Given the description of an element on the screen output the (x, y) to click on. 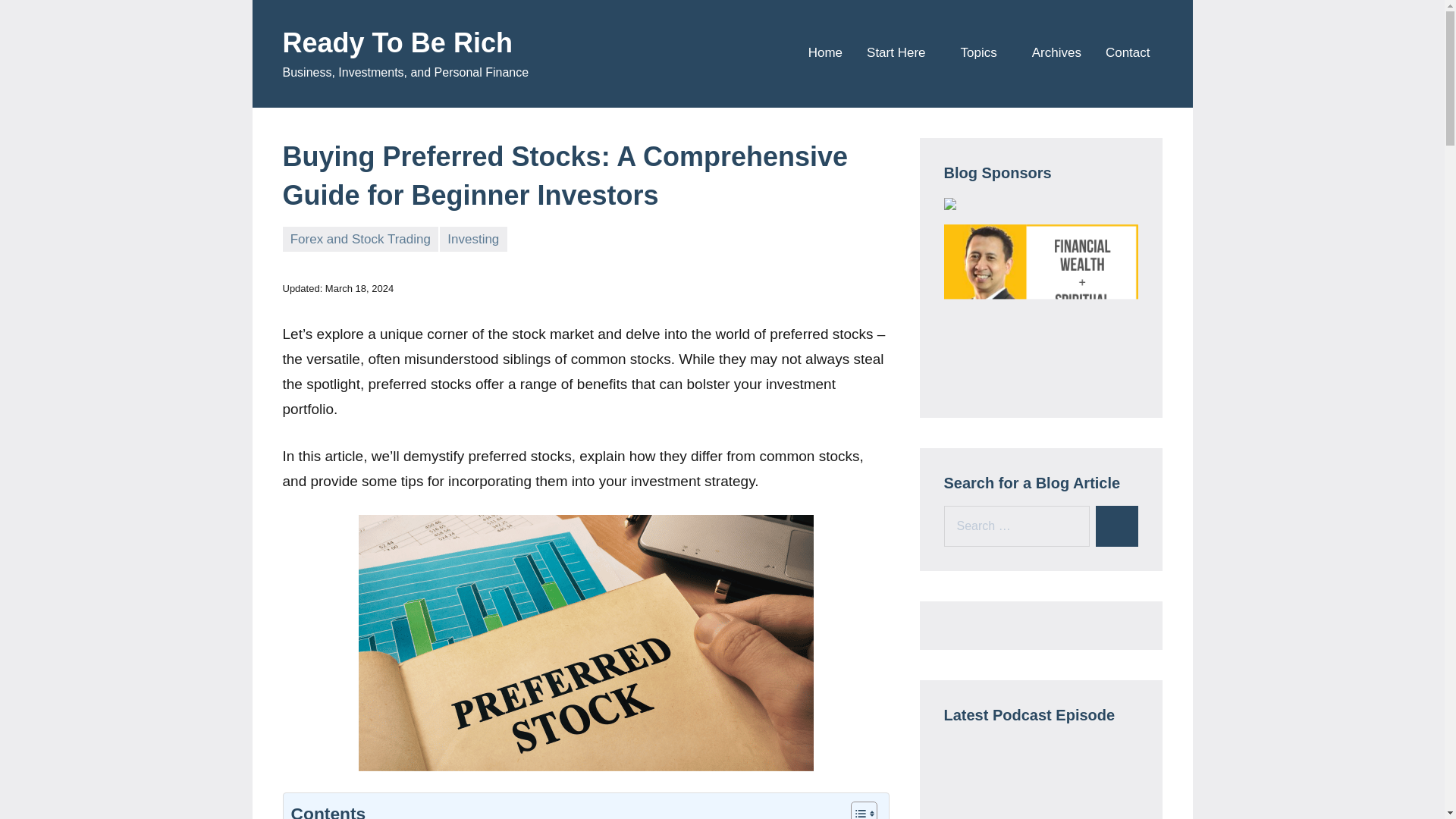
Start Here (901, 53)
Contact (1127, 53)
Forex and Stock Trading (360, 238)
Topics (983, 53)
Home (825, 53)
Archives (1056, 53)
Ready To Be Rich (397, 42)
Investing (472, 238)
